Given the description of an element on the screen output the (x, y) to click on. 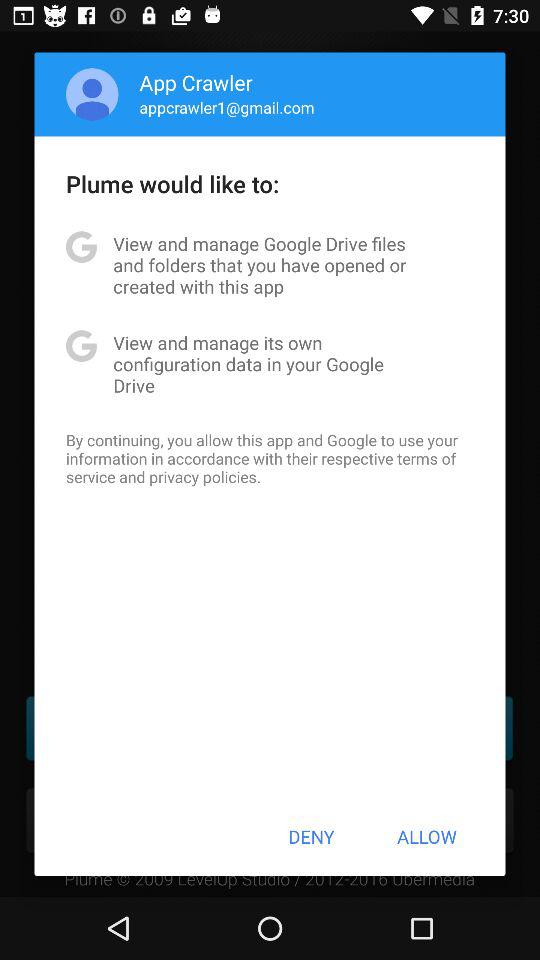
tap item to the left of the allow item (311, 836)
